Given the description of an element on the screen output the (x, y) to click on. 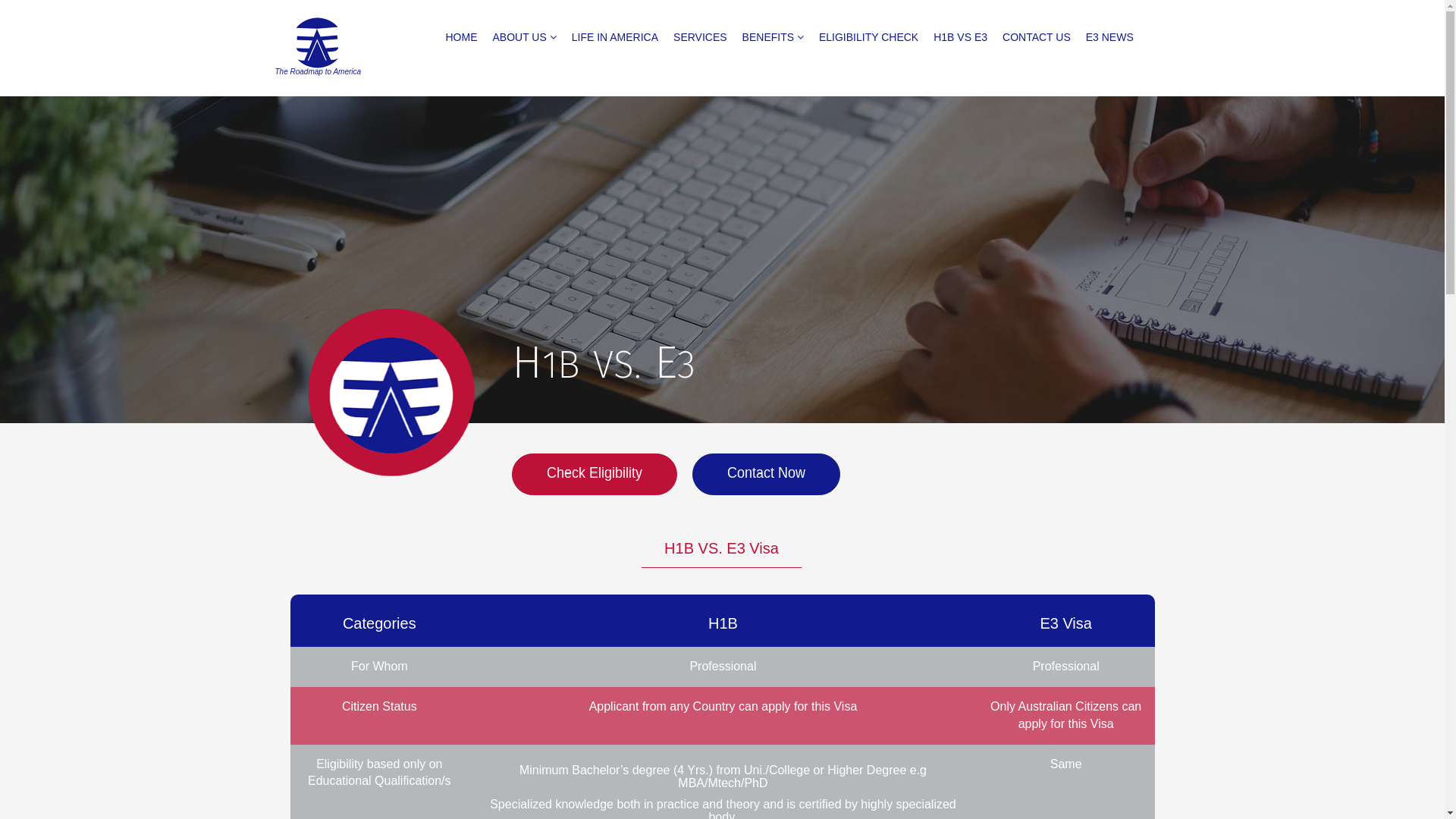
CONTACT US Element type: text (1036, 37)
H1B VS E3 Element type: text (959, 37)
SERVICES Element type: text (699, 37)
H1B VS. E3 Visa Element type: text (721, 548)
BENEFITS Element type: text (772, 37)
ABOUT US Element type: text (524, 37)
The Roadmap to America Element type: text (351, 47)
LIFE IN AMERICA Element type: text (614, 37)
E3 NEWS Element type: text (1109, 37)
HOME Element type: text (461, 37)
ELIGIBILITY CHECK Element type: text (868, 37)
